Given the description of an element on the screen output the (x, y) to click on. 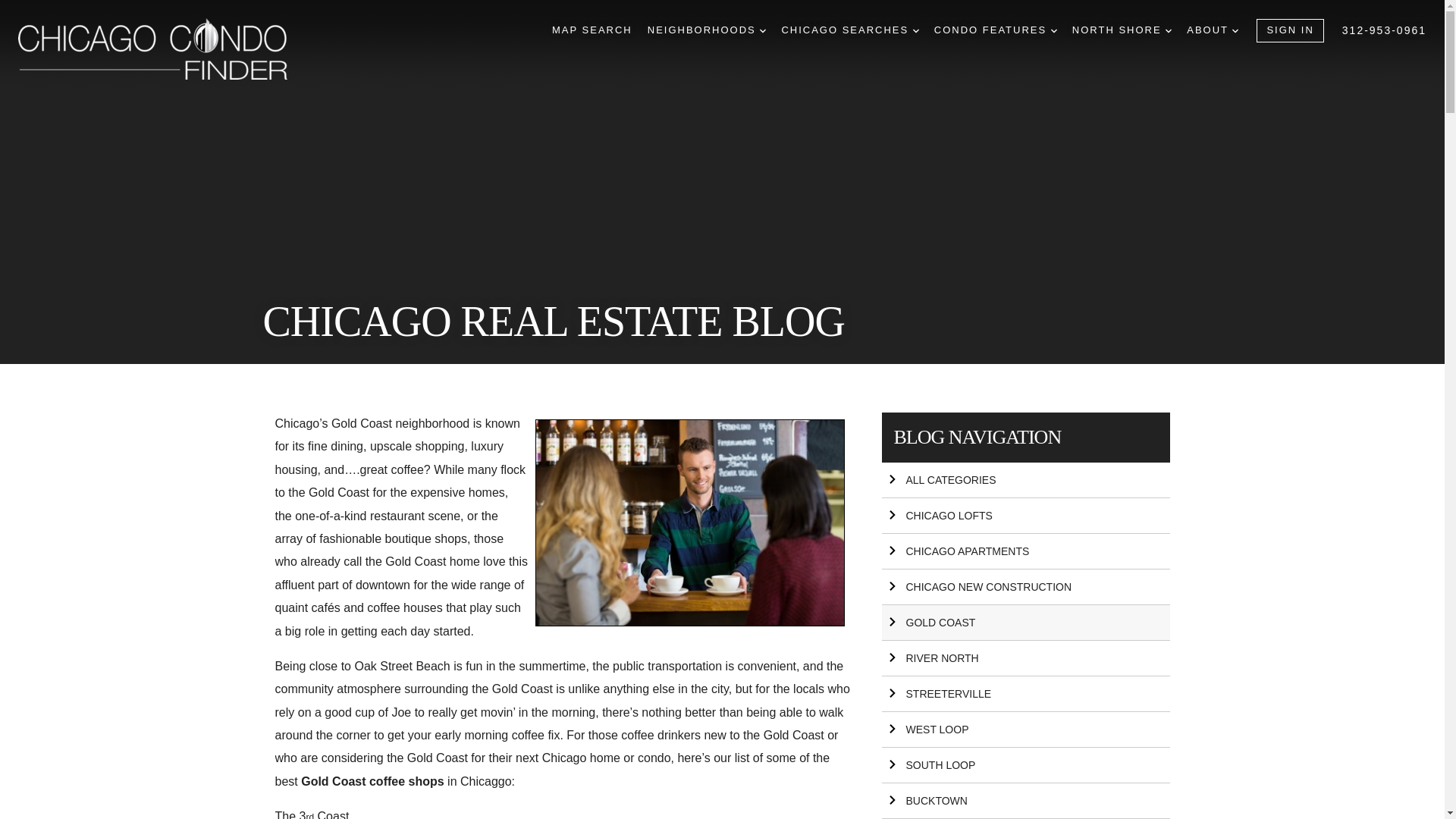
NEIGHBORHOODS DROPDOWN ARROW (707, 30)
DROPDOWN ARROW (1169, 30)
DROPDOWN ARROW (915, 30)
DROPDOWN ARROW (1235, 30)
MAP SEARCH (591, 30)
DROPDOWN ARROW (762, 30)
CHICAGO SEARCHES DROPDOWN ARROW (849, 30)
DROPDOWN ARROW (1054, 30)
Gold Coast Coffee Shops Chicago (689, 522)
